Given the description of an element on the screen output the (x, y) to click on. 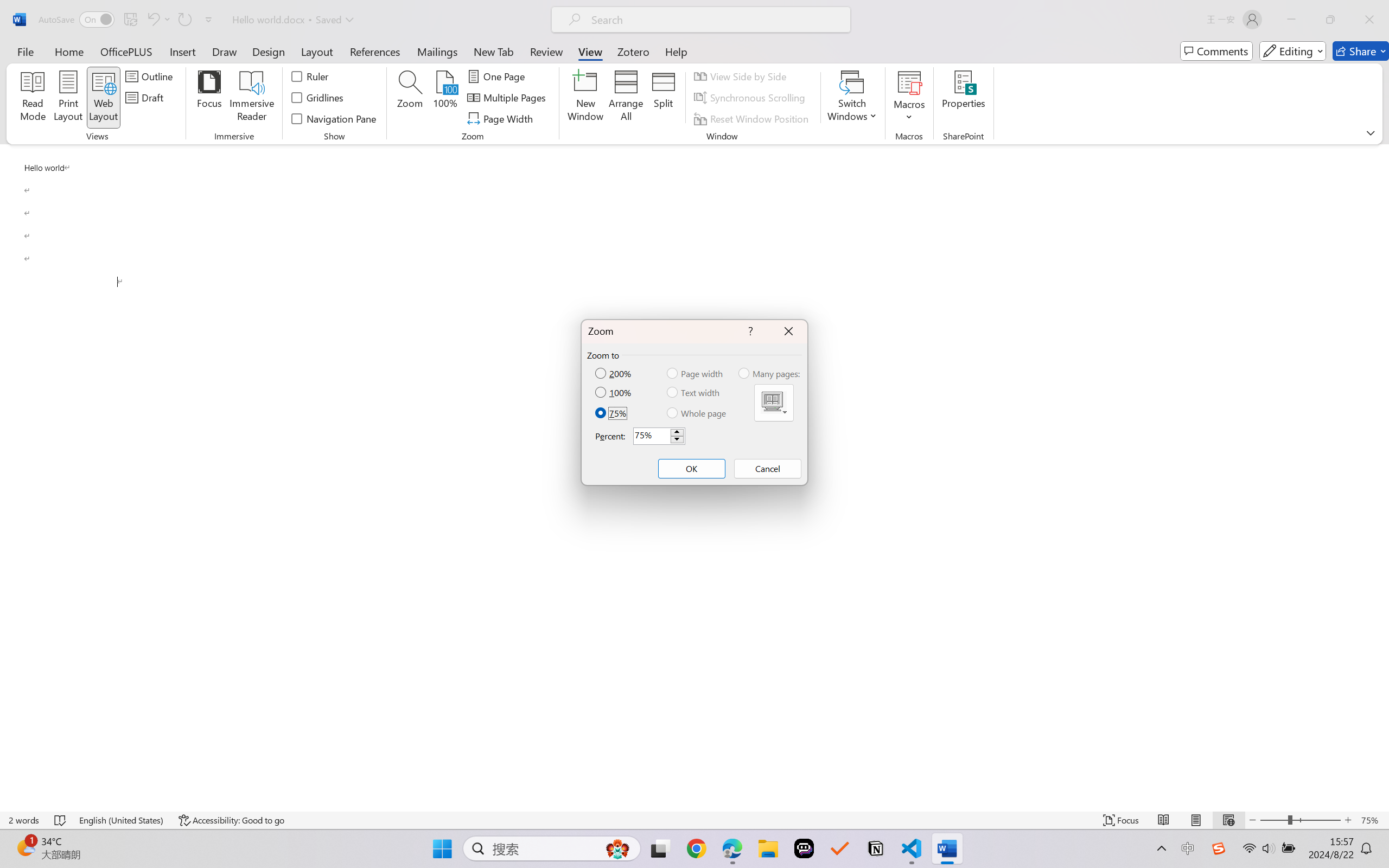
100% (445, 97)
RichEdit Control (651, 435)
Poe (804, 848)
Split (663, 97)
